Given the description of an element on the screen output the (x, y) to click on. 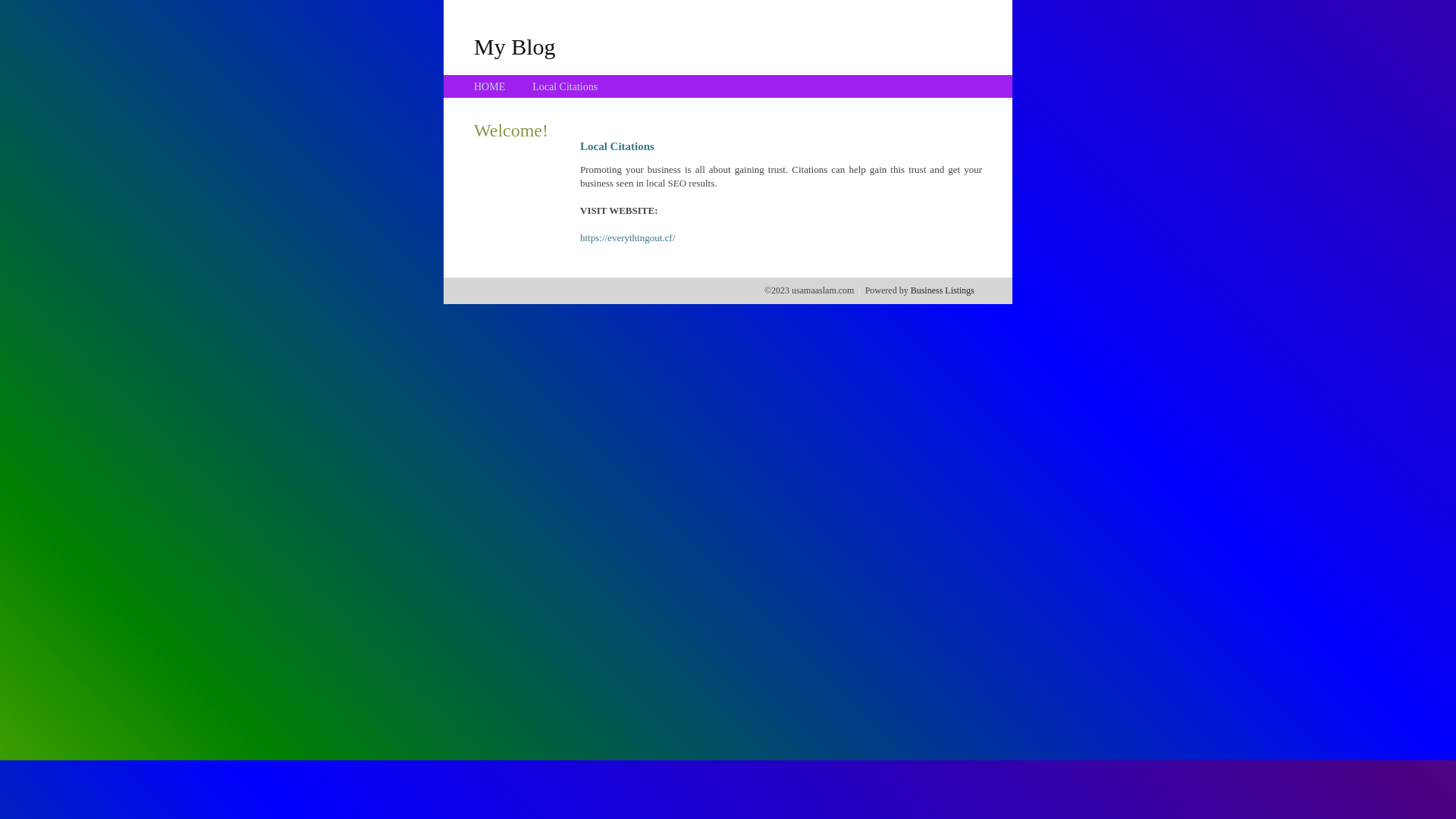
My Blog Element type: text (514, 46)
Local Citations Element type: text (564, 86)
https://everythingout.cf/ Element type: text (627, 237)
Business Listings Element type: text (942, 290)
HOME Element type: text (489, 86)
